Given the description of an element on the screen output the (x, y) to click on. 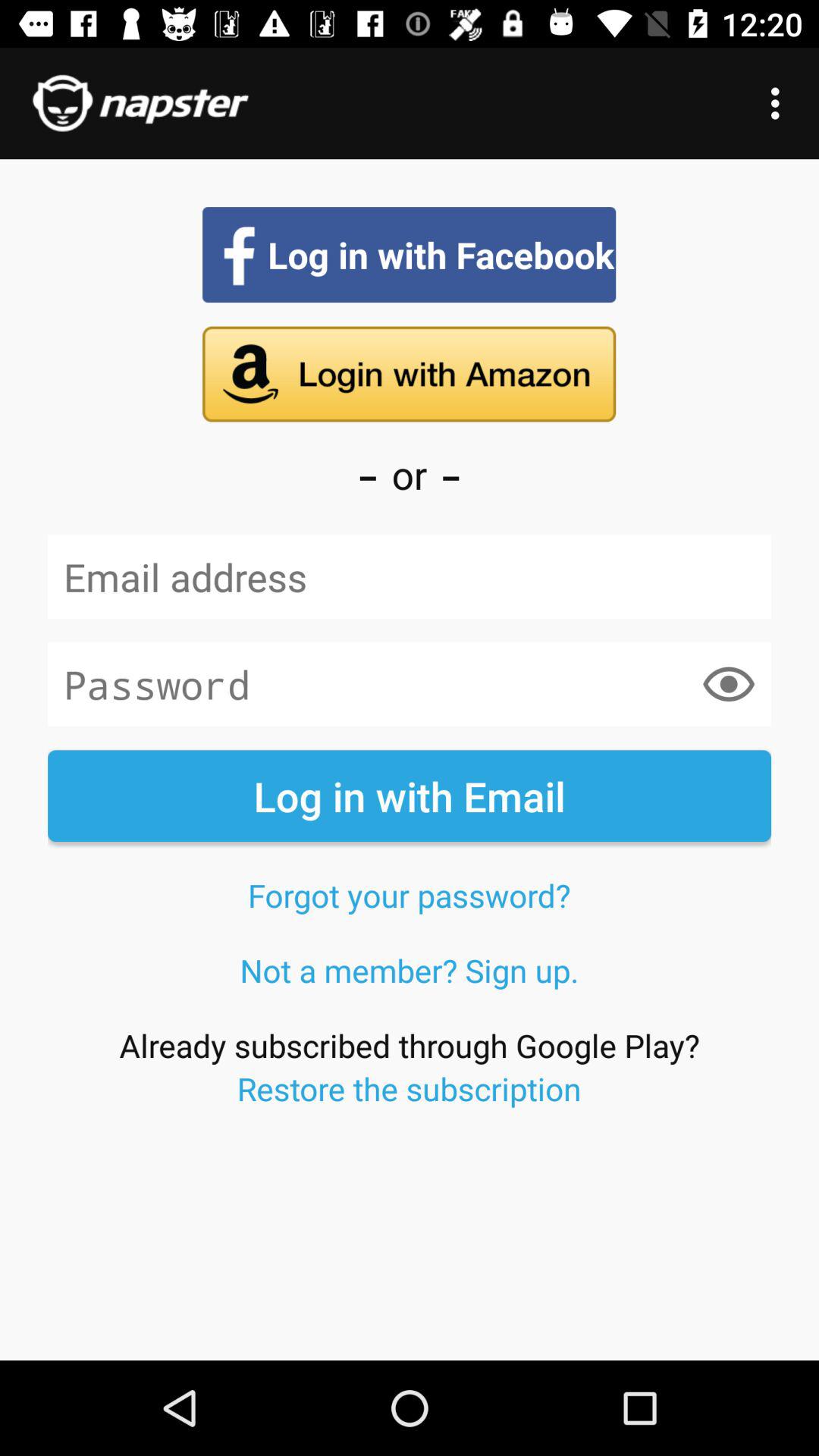
log in with facebook (408, 254)
